Given the description of an element on the screen output the (x, y) to click on. 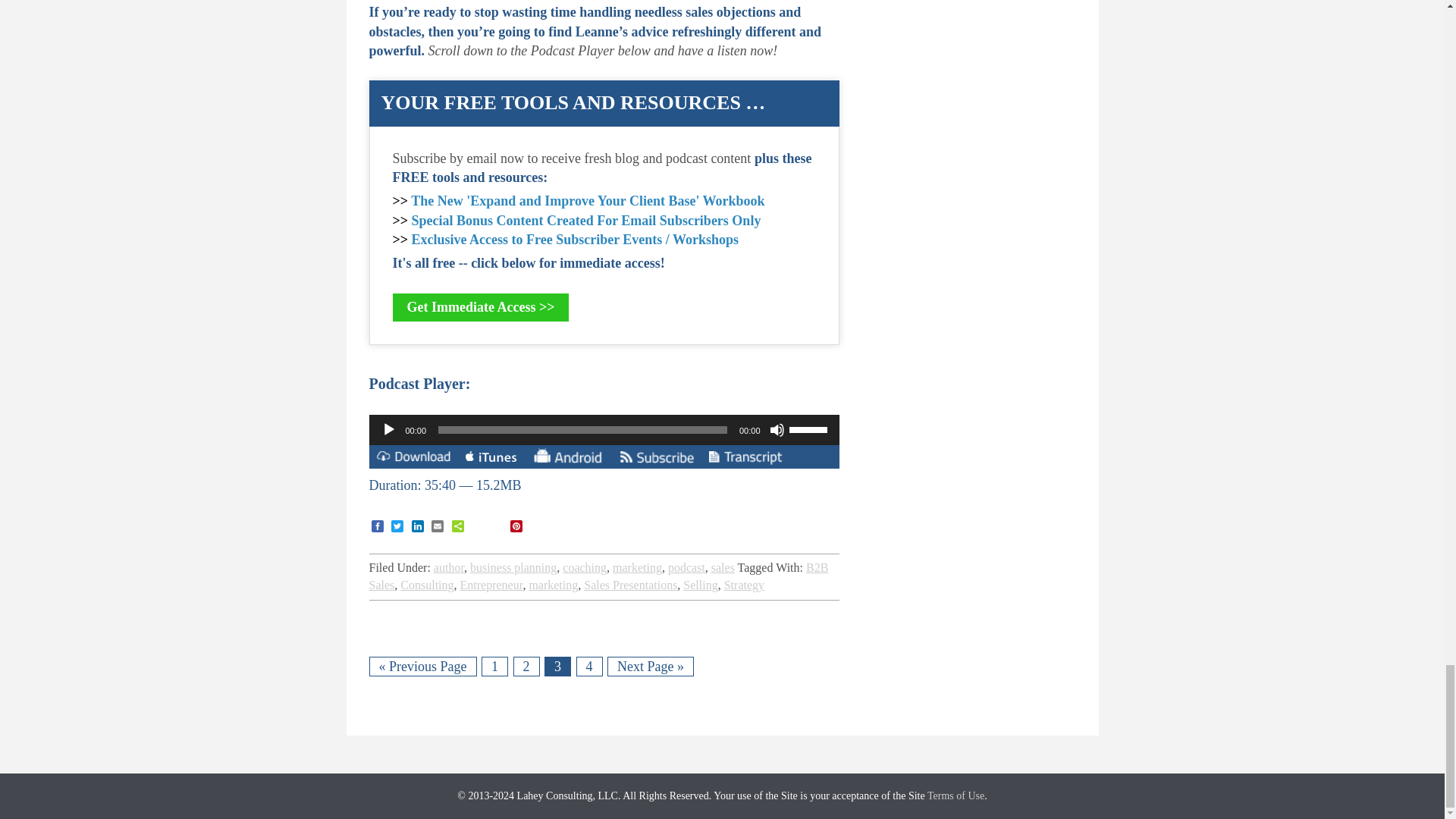
Mute (776, 429)
Play (388, 429)
